Given the description of an element on the screen output the (x, y) to click on. 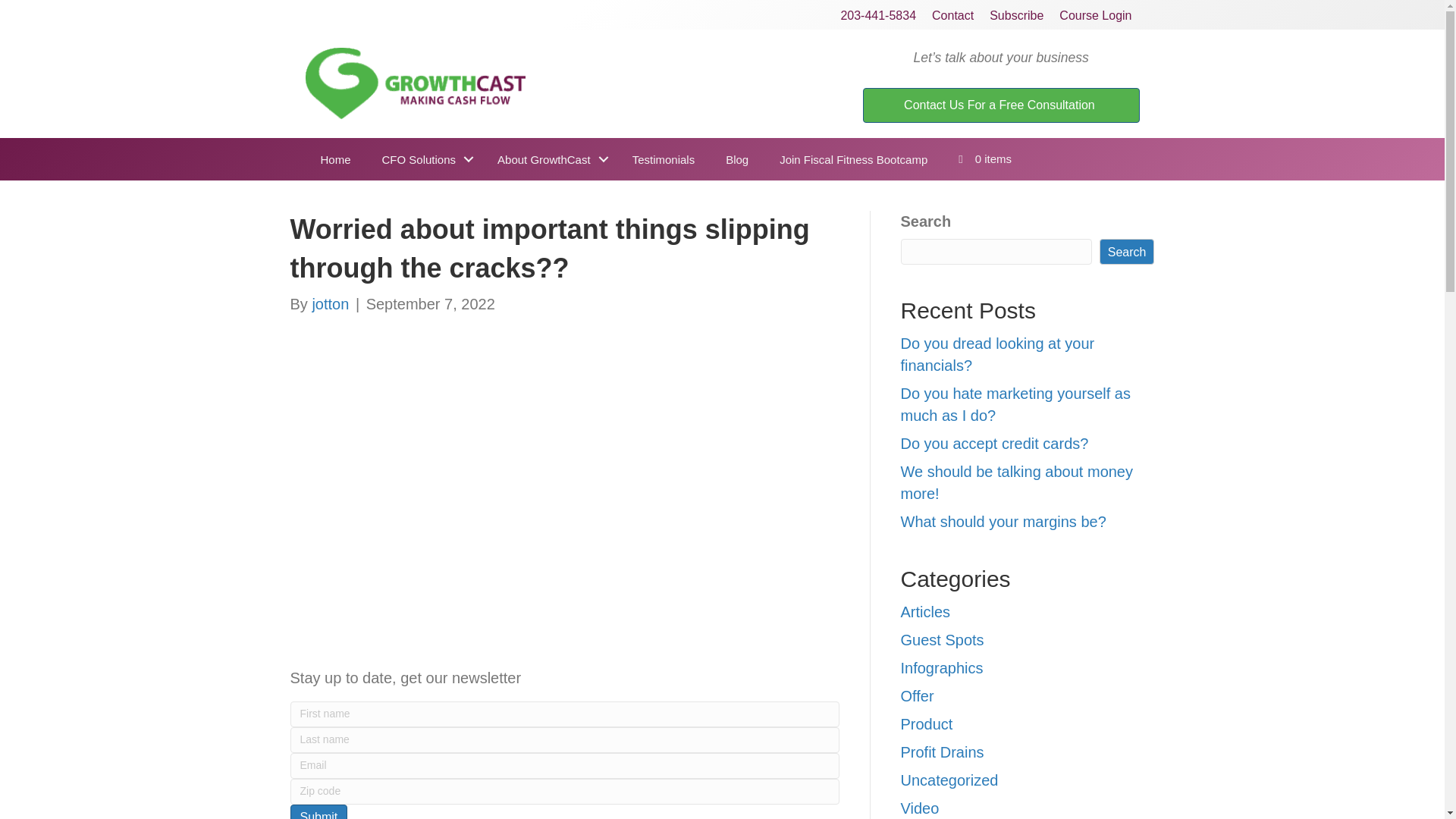
Home (334, 159)
Start shopping (984, 159)
Course Login (1094, 15)
Profit Drains (942, 751)
About GrowthCast (548, 159)
Contact Us For a Free Consultation (1001, 105)
Do you dread looking at your financials? (997, 353)
What should your margins be? (1003, 521)
Join Fiscal Fitness Bootcamp (853, 159)
Do you hate marketing yourself as much as I do? (1016, 404)
203-441-5834 (877, 15)
We should be talking about money more! (1017, 482)
Guest Spots (942, 639)
Testimonials (663, 159)
Uncategorized (949, 780)
